Given the description of an element on the screen output the (x, y) to click on. 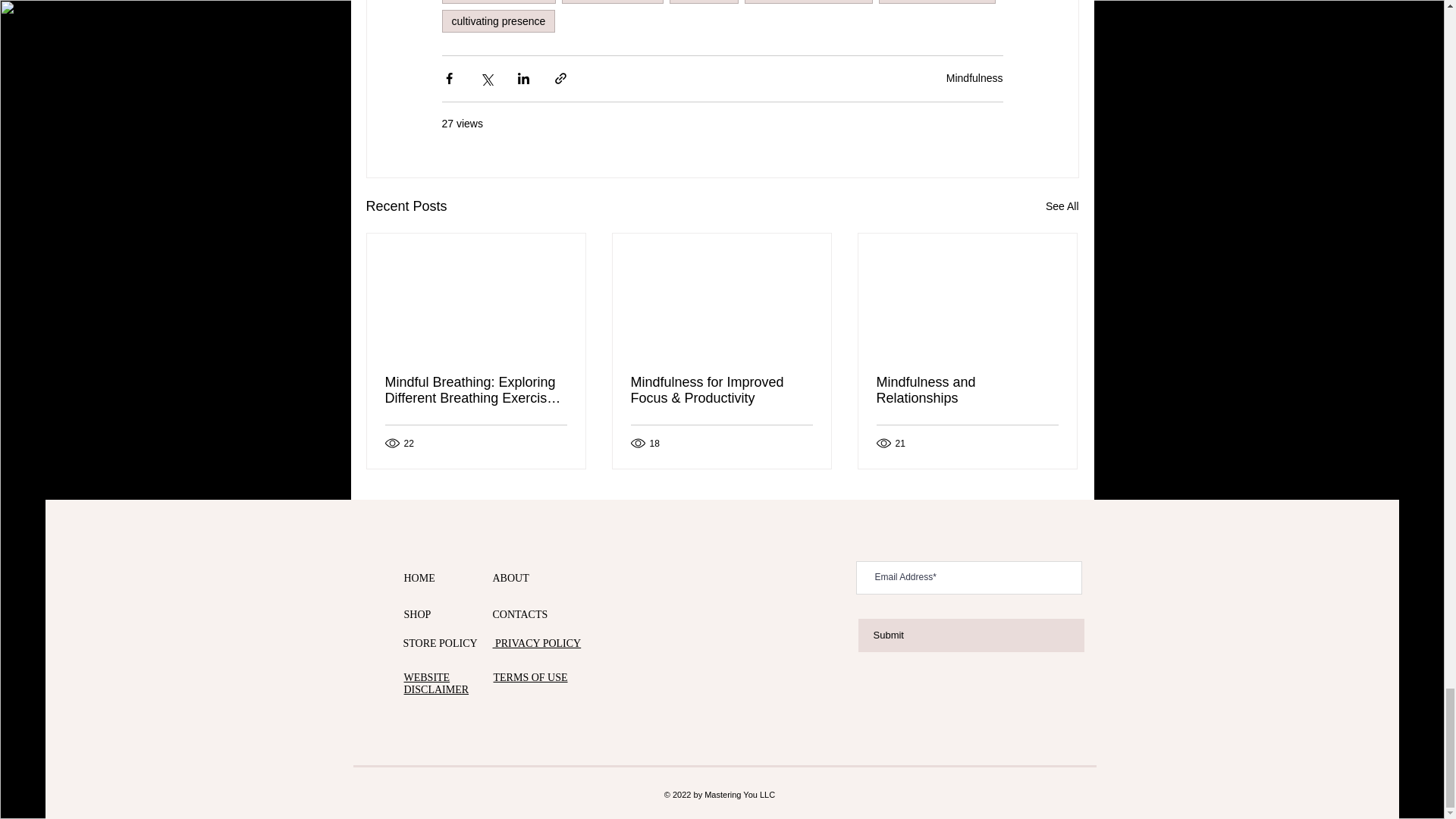
cultivating presence (497, 20)
meditation (703, 2)
mindfulness journey (498, 2)
overall well-being (612, 2)
benefits of mindfulness (808, 2)
mindfulness practice (937, 2)
